Given the description of an element on the screen output the (x, y) to click on. 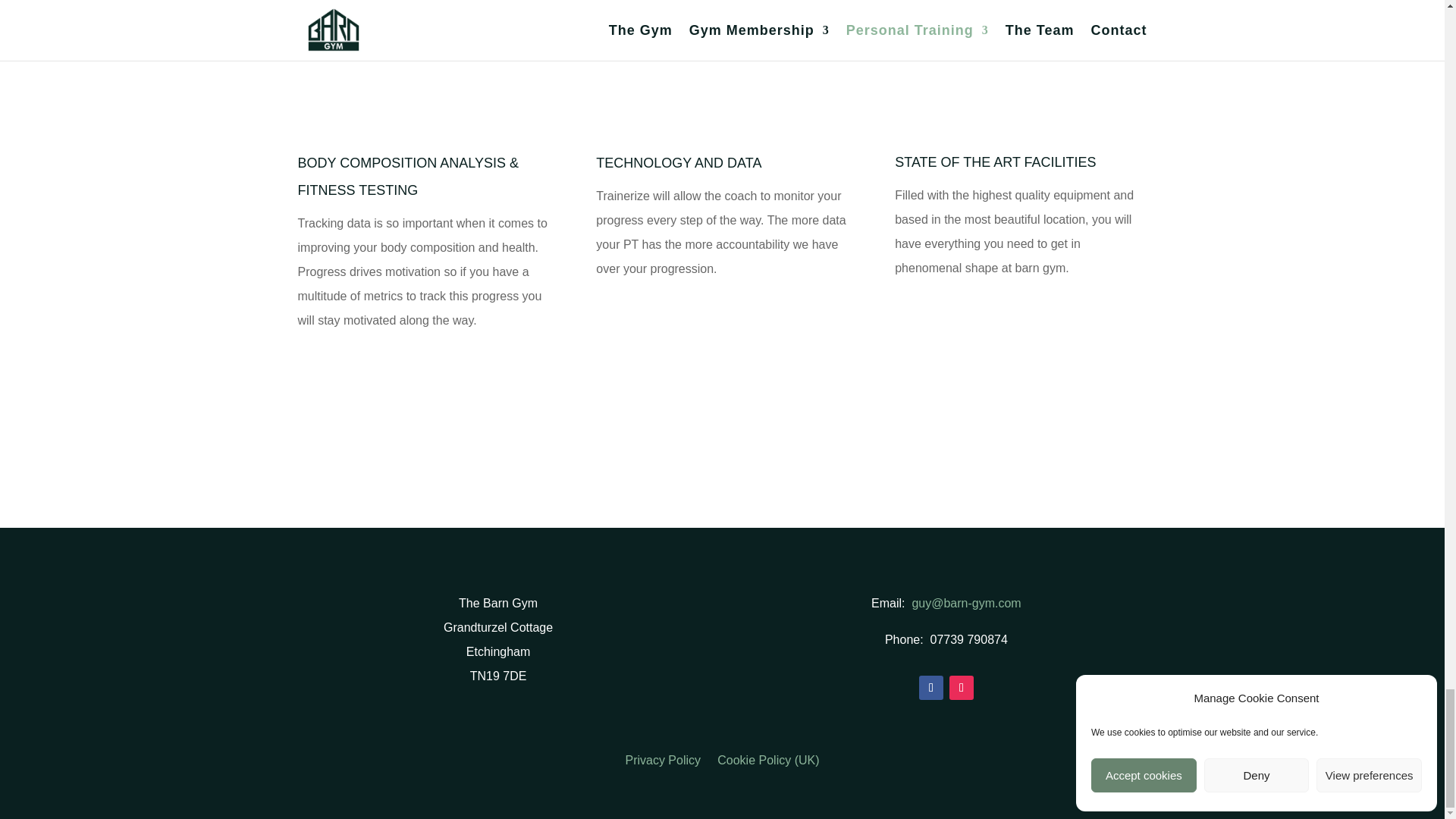
Follow on Facebook (930, 687)
Follow on Instagram (961, 687)
Privacy Policy (662, 759)
